Given the description of an element on the screen output the (x, y) to click on. 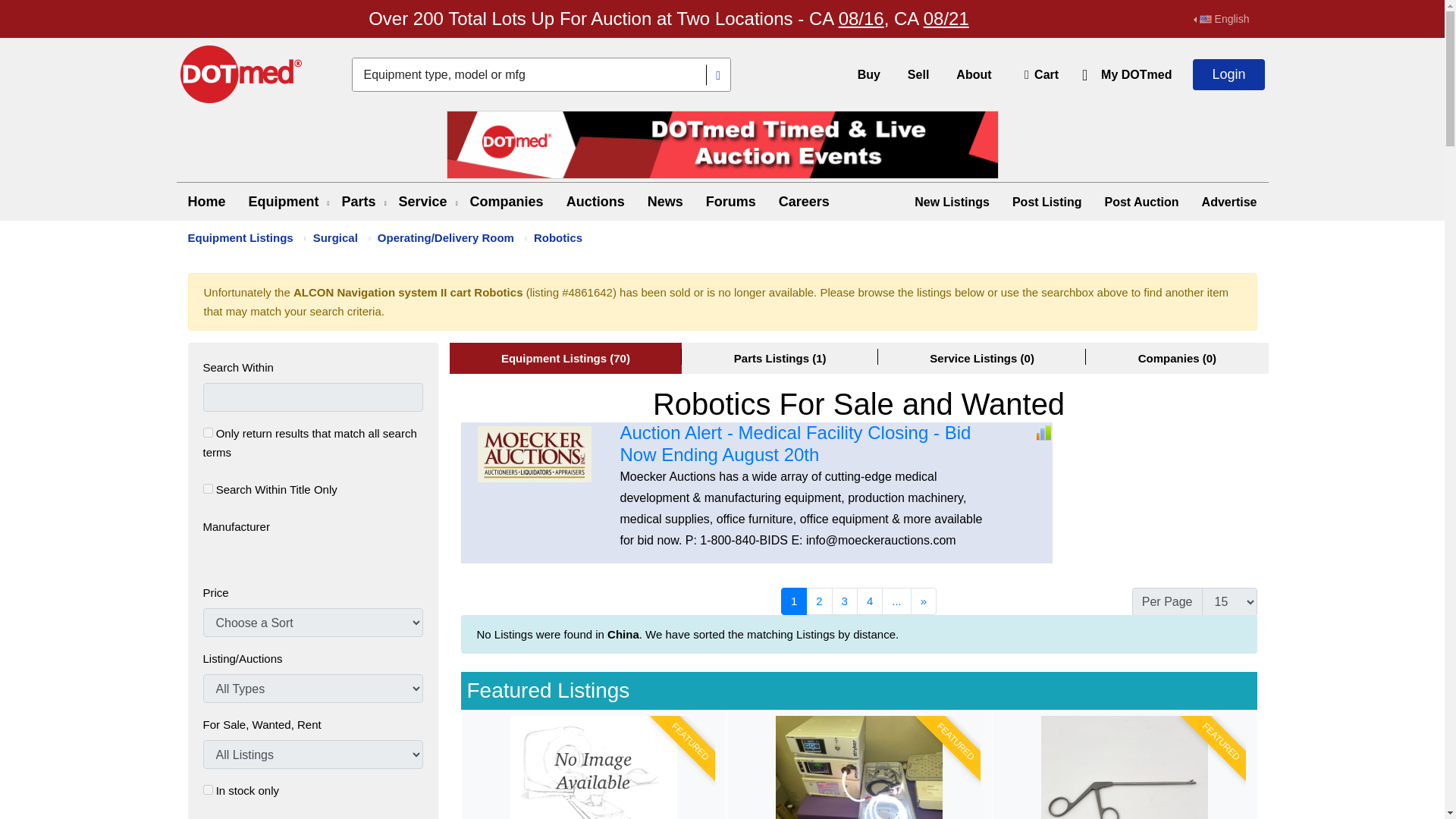
About (973, 74)
Home (206, 201)
My DOTmed (1135, 74)
1 (207, 488)
1 (207, 432)
DOTmed.com Home (240, 74)
Login (1227, 74)
Sell (917, 74)
Equipment (283, 201)
English (1220, 19)
